Given the description of an element on the screen output the (x, y) to click on. 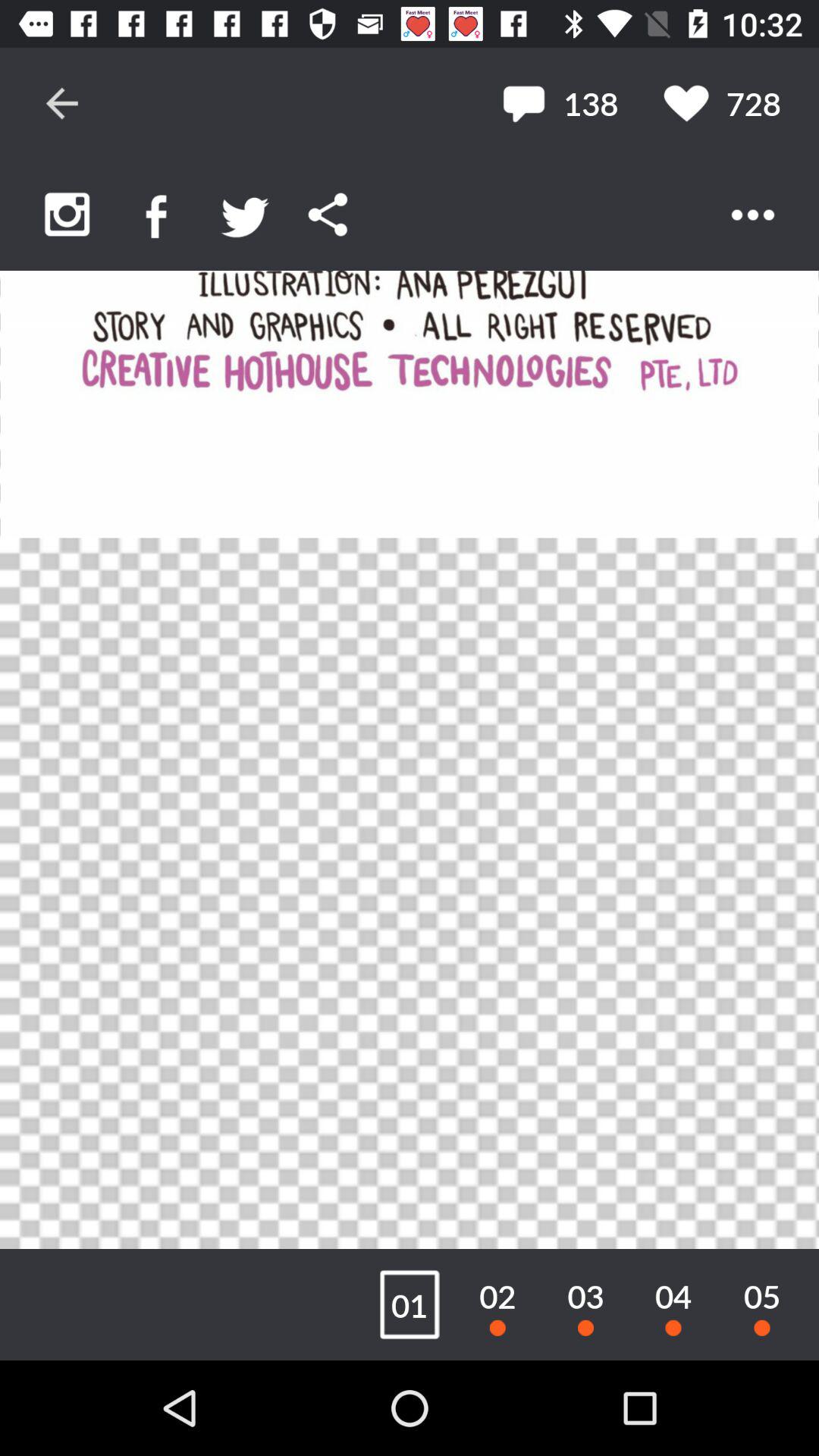
jump until the 728  item (722, 103)
